Given the description of an element on the screen output the (x, y) to click on. 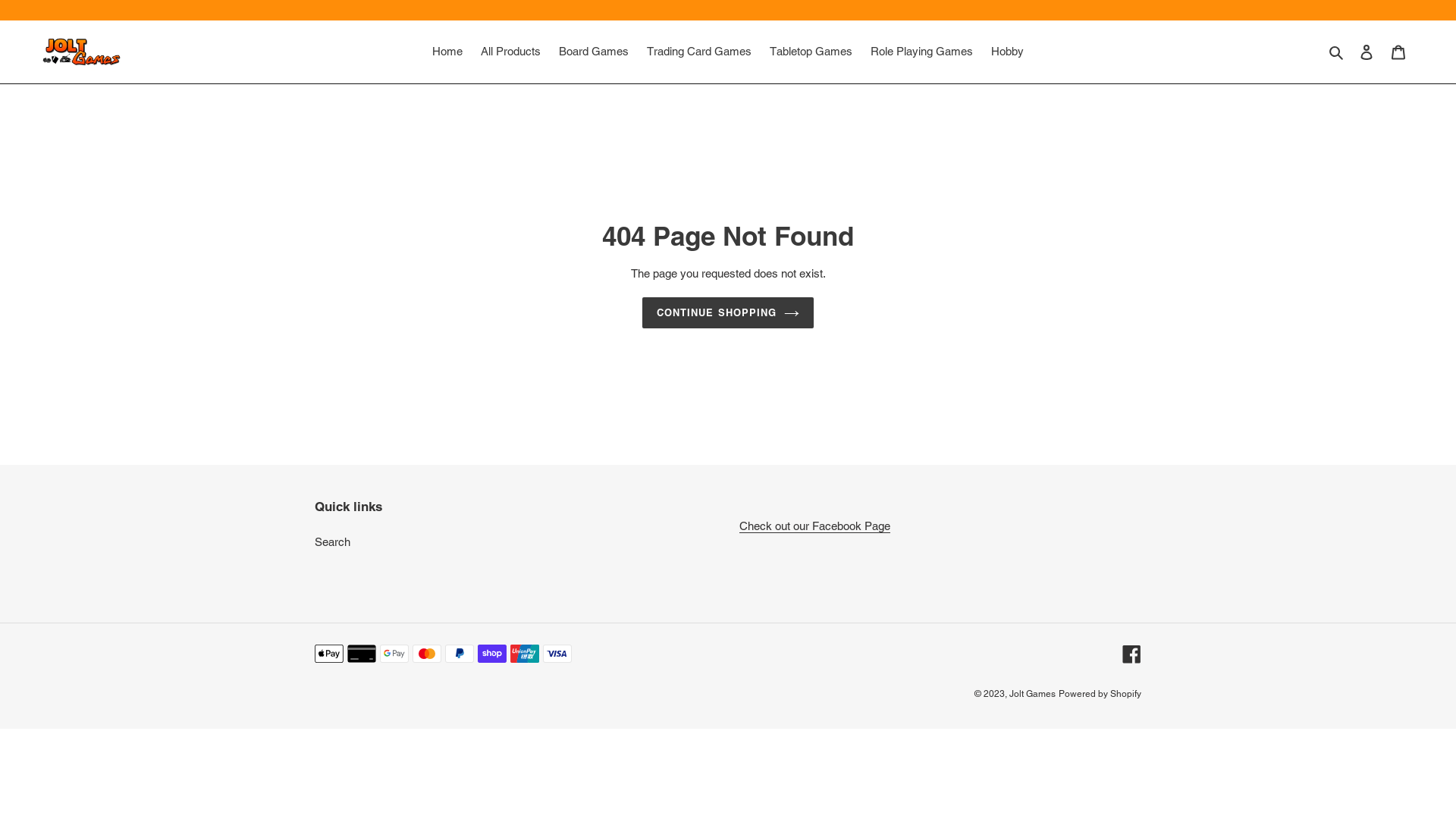
Tabletop Games Element type: text (810, 51)
Search Element type: text (332, 541)
Trading Card Games Element type: text (699, 51)
Hobby Element type: text (1007, 51)
All Products Element type: text (510, 51)
Log in Element type: text (1366, 51)
Powered by Shopify Element type: text (1099, 693)
Home Element type: text (447, 51)
Board Games Element type: text (593, 51)
Jolt Games Element type: text (1032, 693)
Role Playing Games Element type: text (921, 51)
Search Element type: text (1337, 51)
CONTINUE SHOPPING Element type: text (727, 313)
Facebook Element type: text (1131, 653)
Check out our Facebook Page Element type: text (814, 526)
Cart Element type: text (1398, 51)
